Given the description of an element on the screen output the (x, y) to click on. 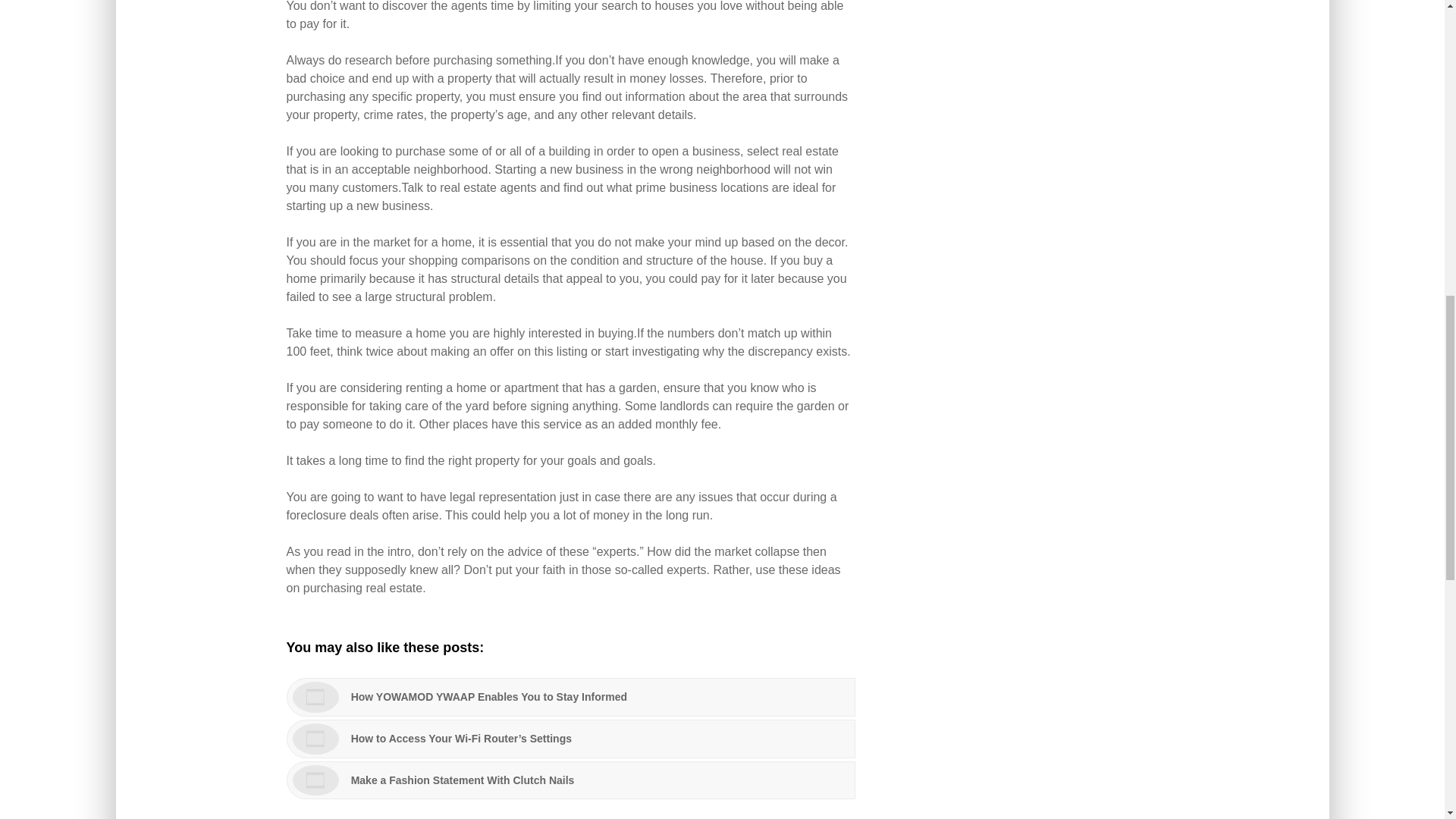
How YOWAMOD YWAAP Enables You to Stay Informed (571, 697)
How YOWAMOD YWAAP Enables You to Stay Informed (571, 697)
Make a Fashion Statement With Clutch Nails (571, 780)
Make a Fashion Statement With Clutch Nails (571, 780)
